Given the description of an element on the screen output the (x, y) to click on. 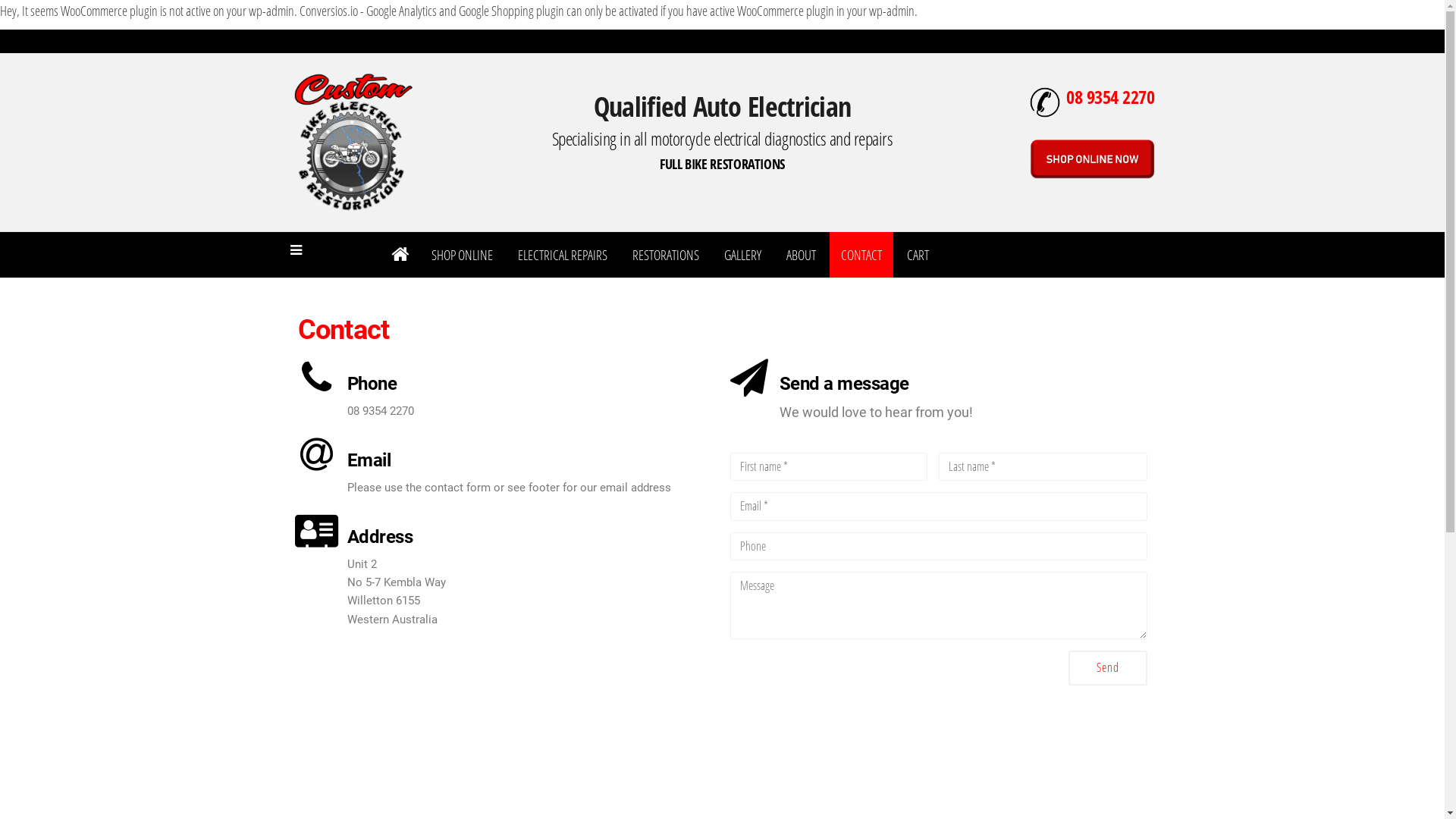
HOME Element type: text (398, 254)
CART Element type: text (917, 254)
Send Element type: text (1106, 667)
SHOP ONLINE Element type: text (462, 254)
ELECTRICAL REPAIRS Element type: text (562, 254)
GALLERY Element type: text (742, 254)
CONTACT Element type: text (861, 254)
08 9354 2270 Element type: text (1110, 96)
ABOUT Element type: text (801, 254)
RESTORATIONS Element type: text (665, 254)
